Given the description of an element on the screen output the (x, y) to click on. 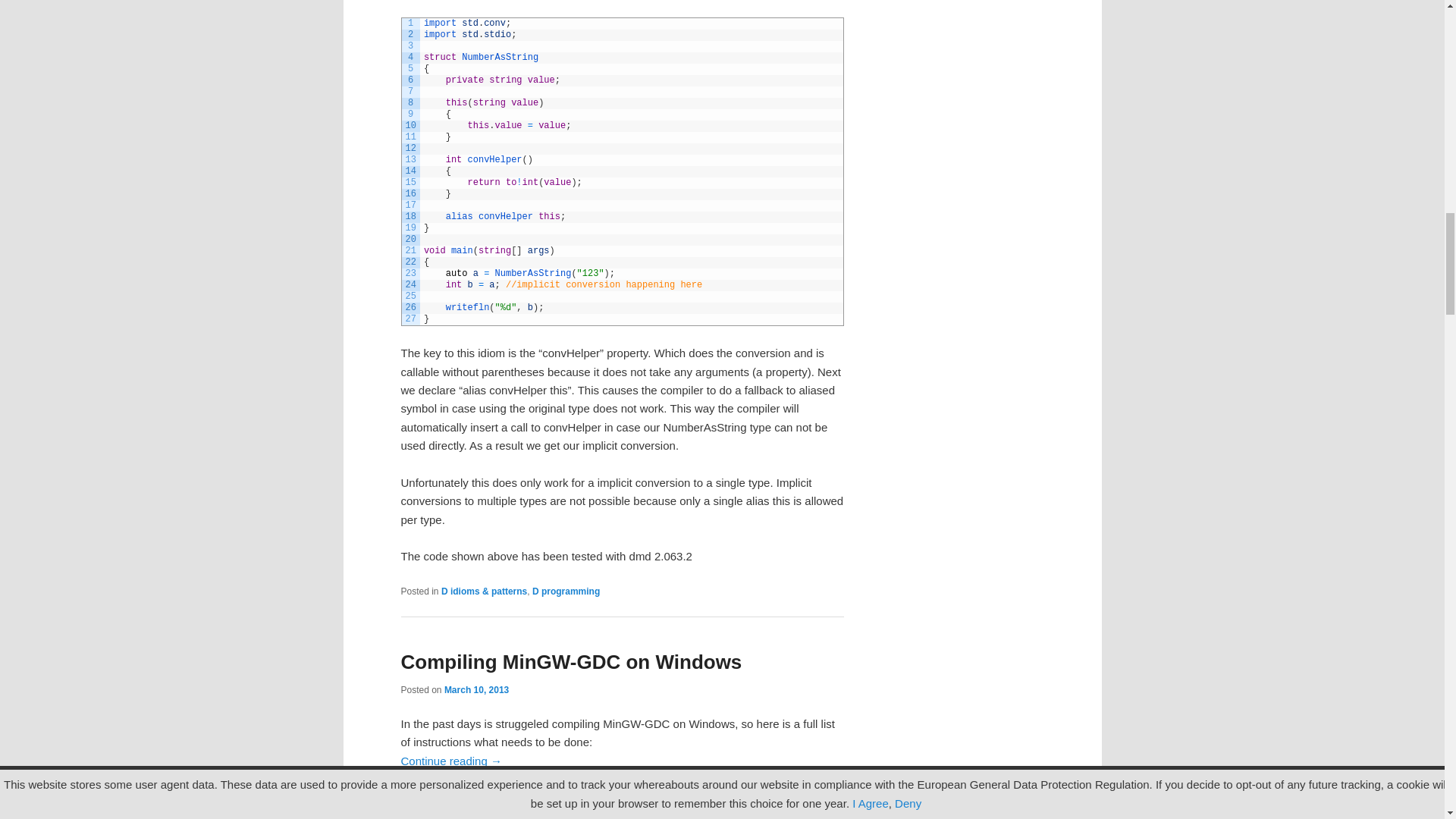
D programming (565, 591)
D programming (474, 795)
March 10, 2013 (476, 689)
Compiling MinGW-GDC on Windows (570, 661)
20:05 (476, 689)
